Given the description of an element on the screen output the (x, y) to click on. 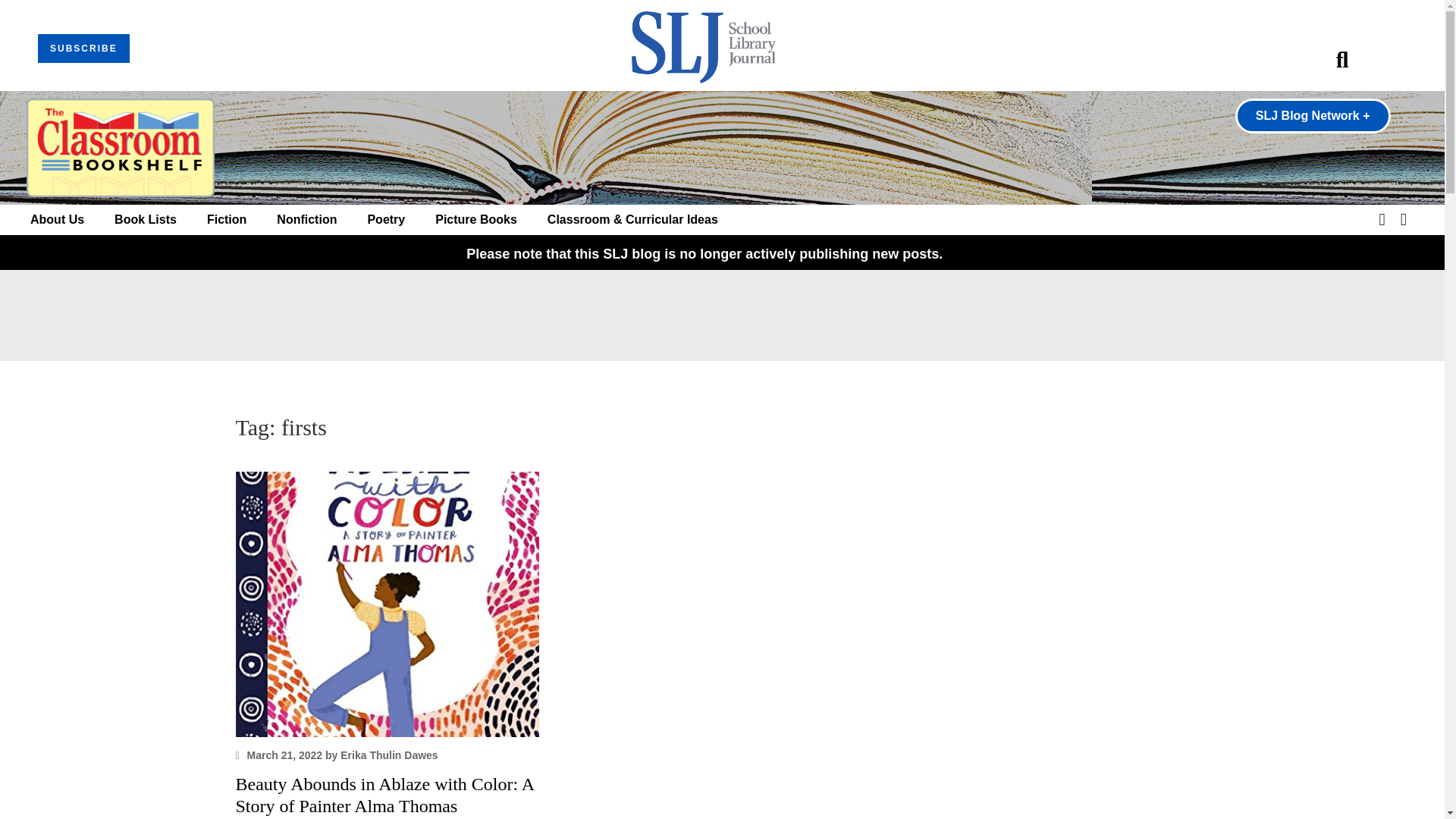
Book Lists (145, 219)
Fiction (226, 219)
SUBSCRIBE (83, 48)
Nonfiction (306, 219)
About Us (57, 219)
3rd party ad content (721, 315)
